Given the description of an element on the screen output the (x, y) to click on. 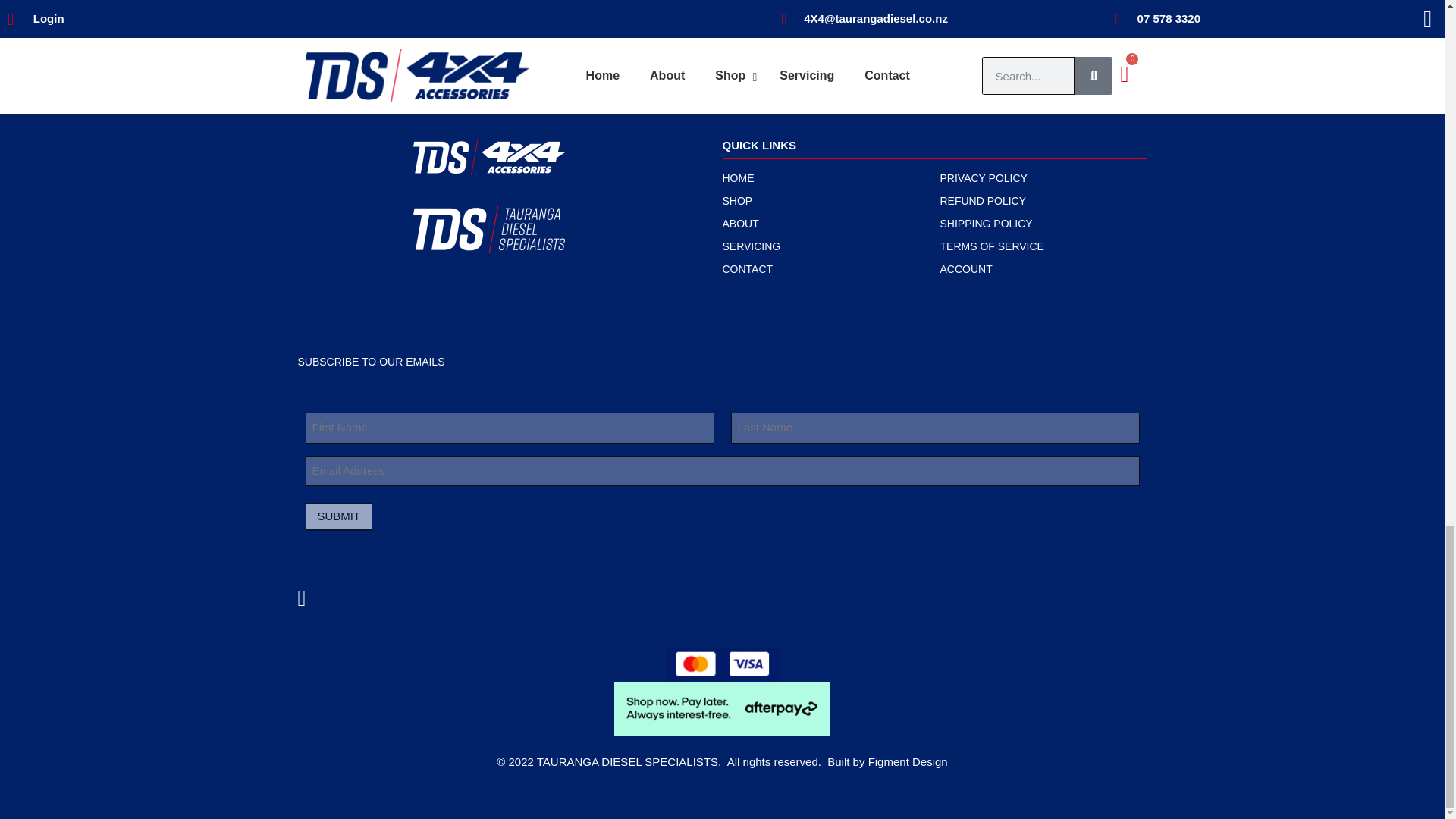
TDS-Logo-Revers (488, 228)
Submit (338, 516)
Screen Shot 2022-06-07 at 9.51.07 PM (721, 664)
